Given the description of an element on the screen output the (x, y) to click on. 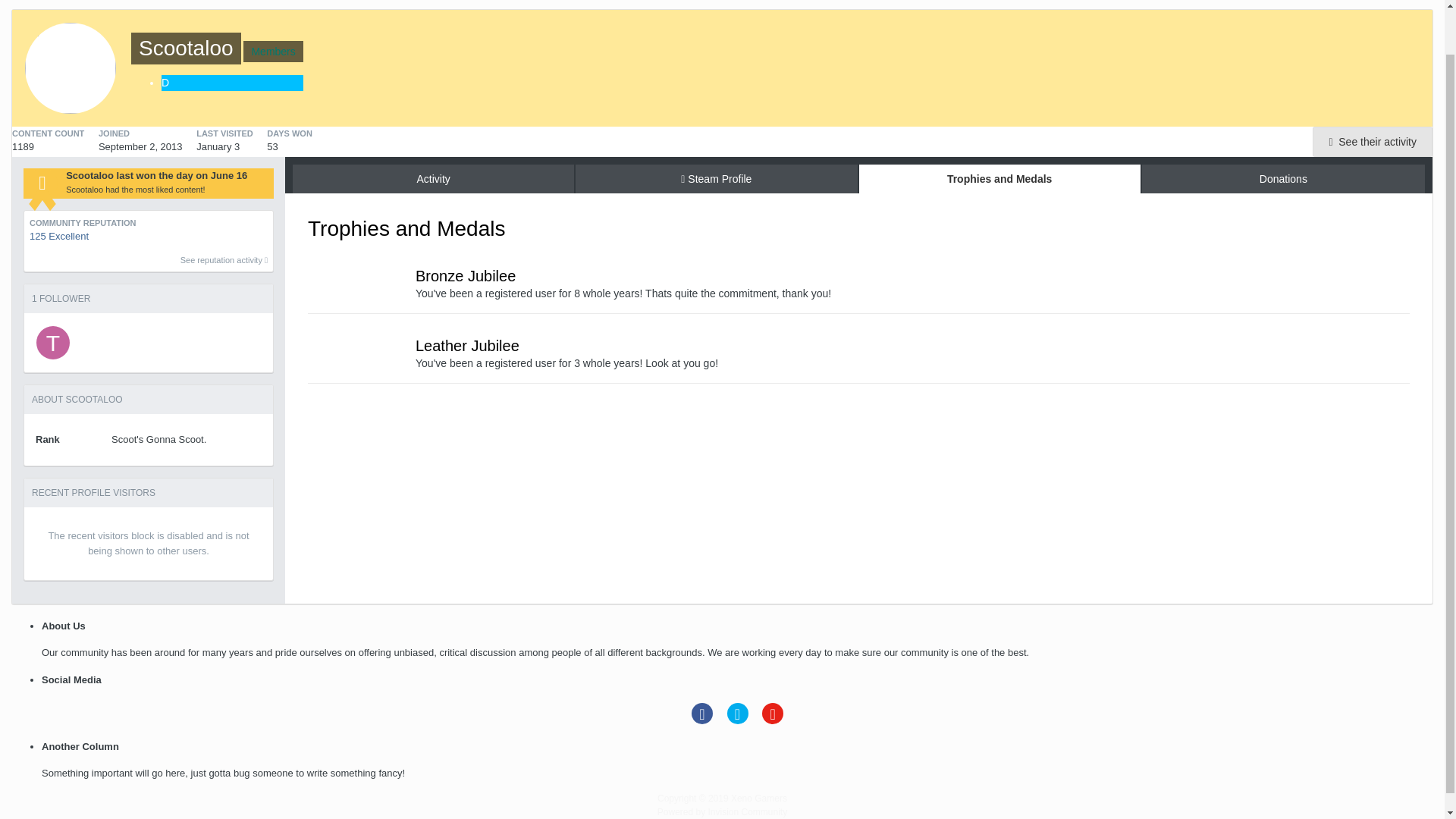
Invision Community (722, 811)
Scootaloo's Content (1372, 141)
Donator (231, 82)
Scootaloo's Reputation (148, 240)
